Given the description of an element on the screen output the (x, y) to click on. 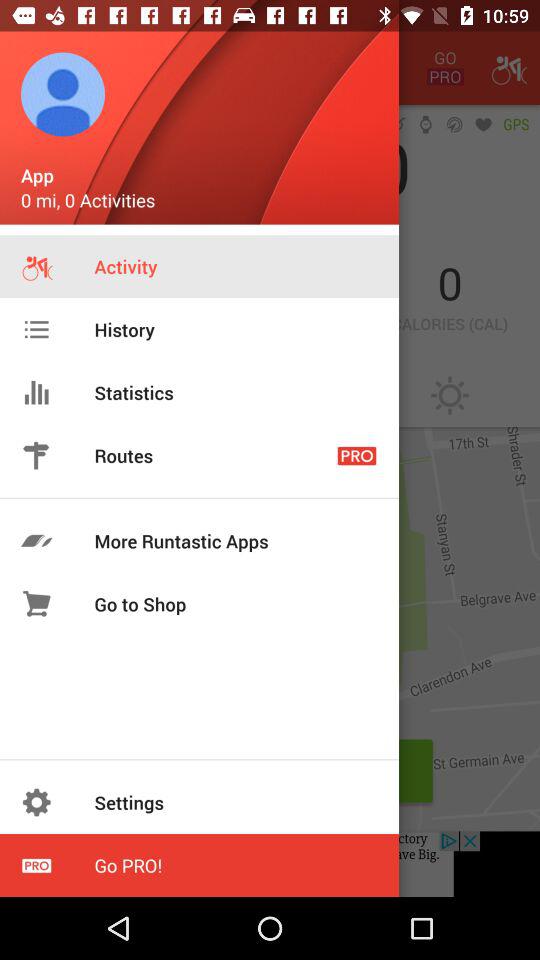
click on the bottom left icon (36, 865)
